Given the description of an element on the screen output the (x, y) to click on. 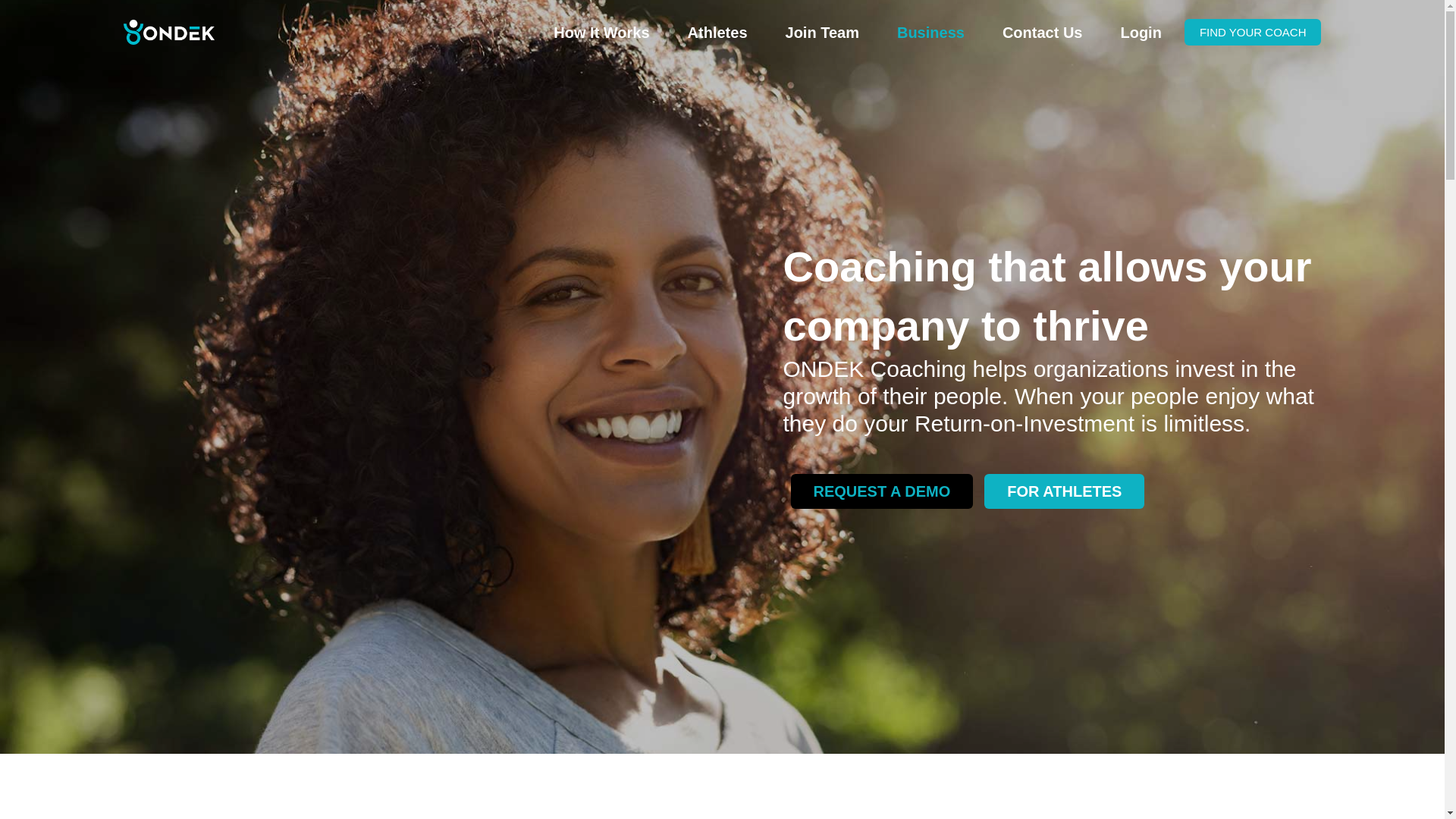
FOR ATHLETES (1064, 491)
Athletes (717, 32)
Join Team (822, 32)
FIND YOUR COACH (1253, 31)
REQUEST A DEMO (881, 491)
Contact Us (1043, 32)
Business (929, 32)
How It Works (601, 32)
Login (1139, 32)
